Given the description of an element on the screen output the (x, y) to click on. 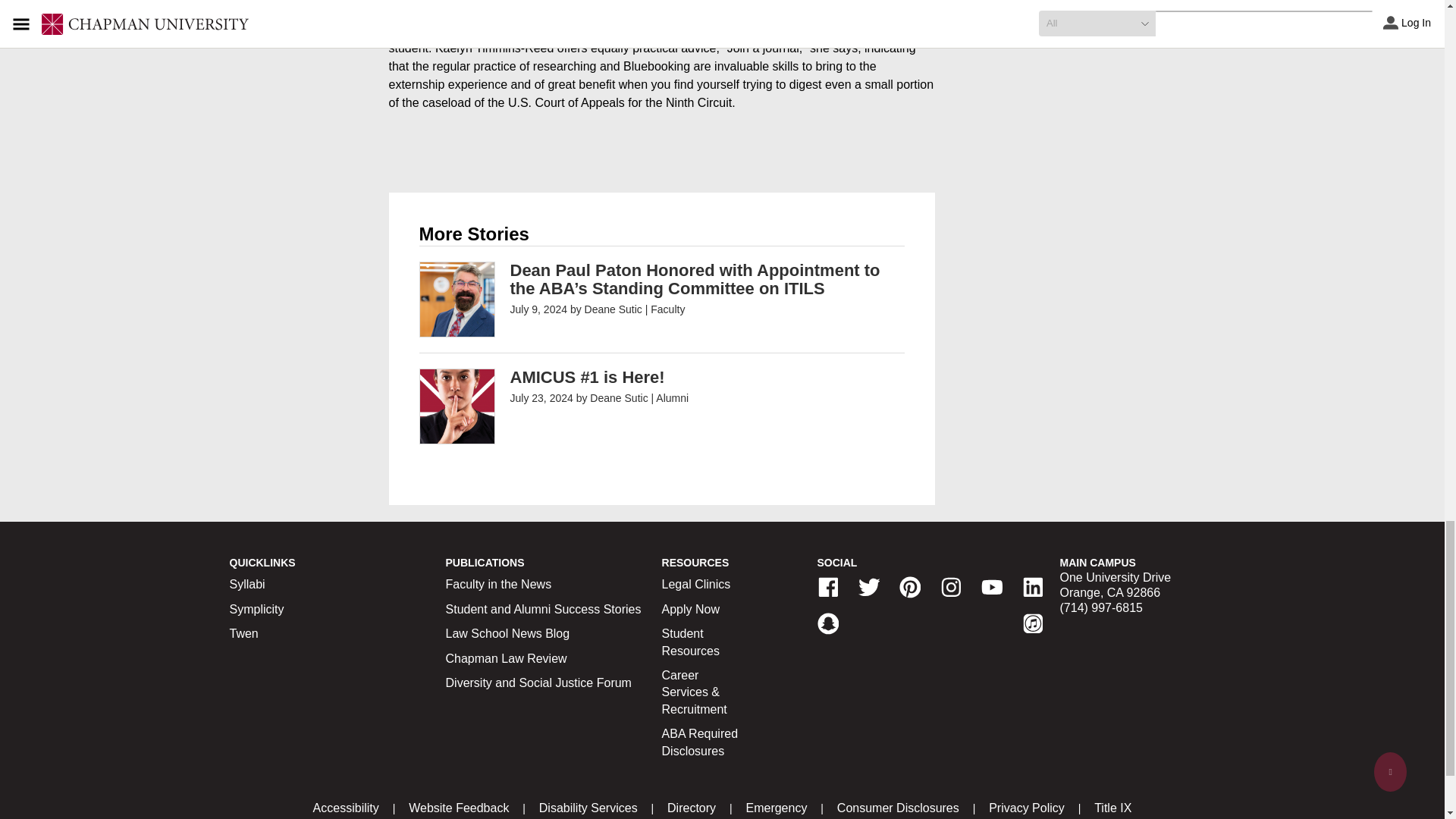
Alumni (672, 398)
Deane Sutic (618, 398)
Deane Sutic (613, 309)
Chapman Law Review (506, 658)
Posts by Deane Sutic (613, 309)
Syllabi (246, 584)
Faculty (667, 309)
Faculty in the News (498, 584)
Legal Clinics (696, 584)
Student and Alumni Success Stories (543, 608)
Posts by Deane Sutic (618, 398)
Diversity and Social Justice Forum (538, 682)
Law School News Blog (507, 633)
Symplicity (255, 608)
Twen (242, 633)
